Given the description of an element on the screen output the (x, y) to click on. 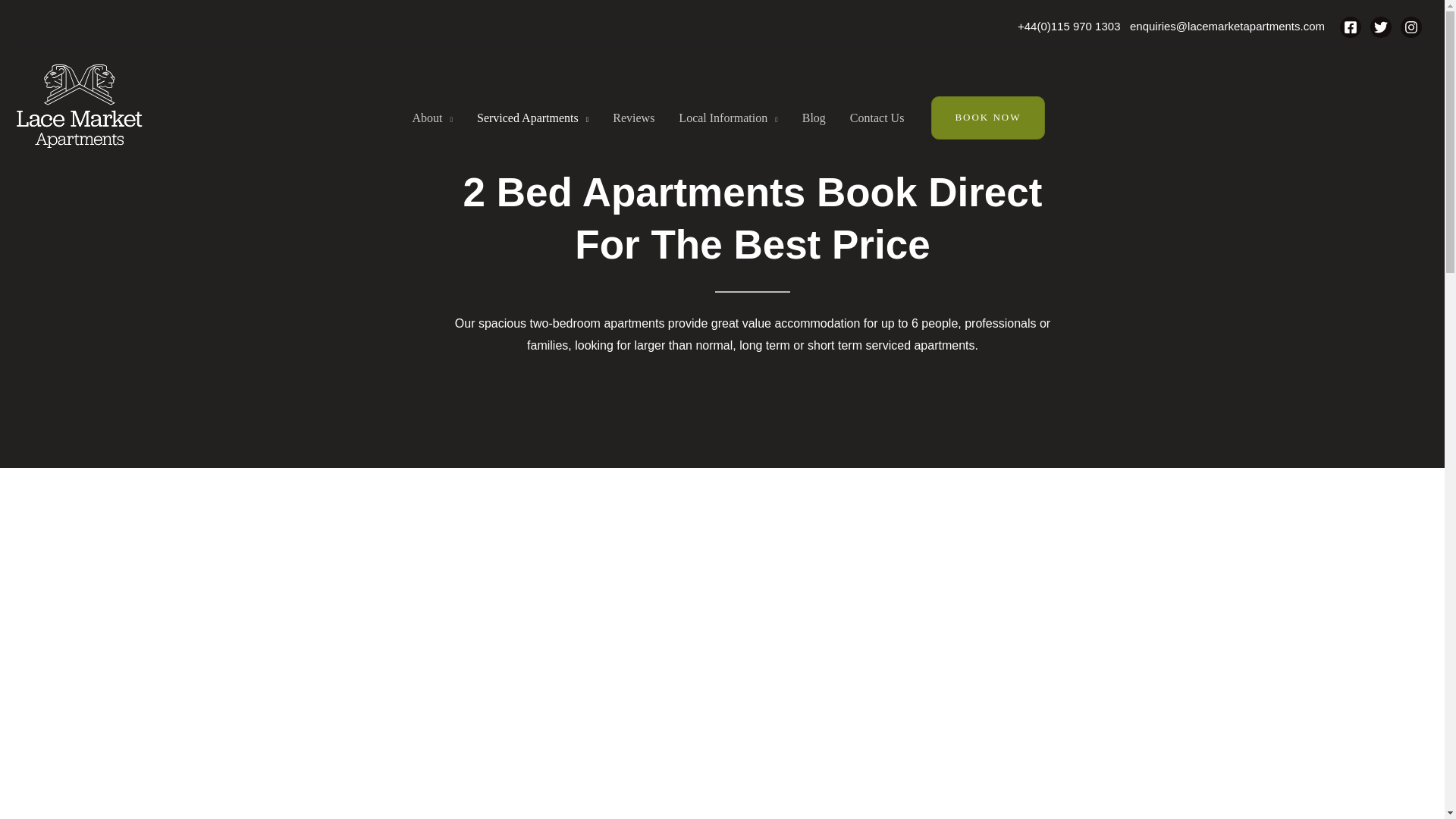
About (431, 118)
Contact Us (877, 118)
Serviced Apartments (531, 118)
Blog (814, 118)
BOOK NOW (987, 117)
Local Information (727, 118)
Reviews (632, 118)
